Given the description of an element on the screen output the (x, y) to click on. 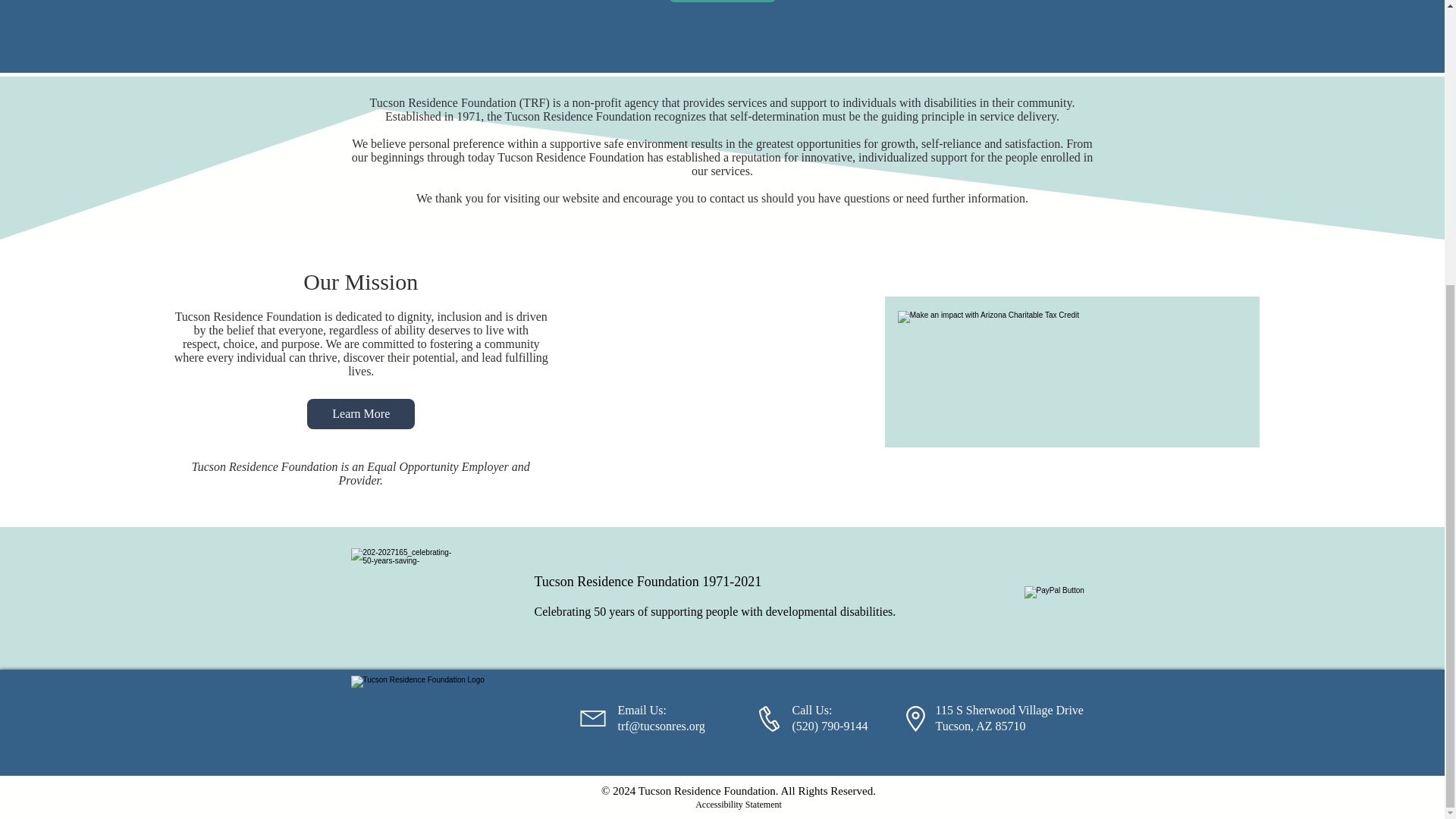
Learn More (360, 413)
Accessibility Statement (738, 803)
Contact Us (722, 1)
